Given the description of an element on the screen output the (x, y) to click on. 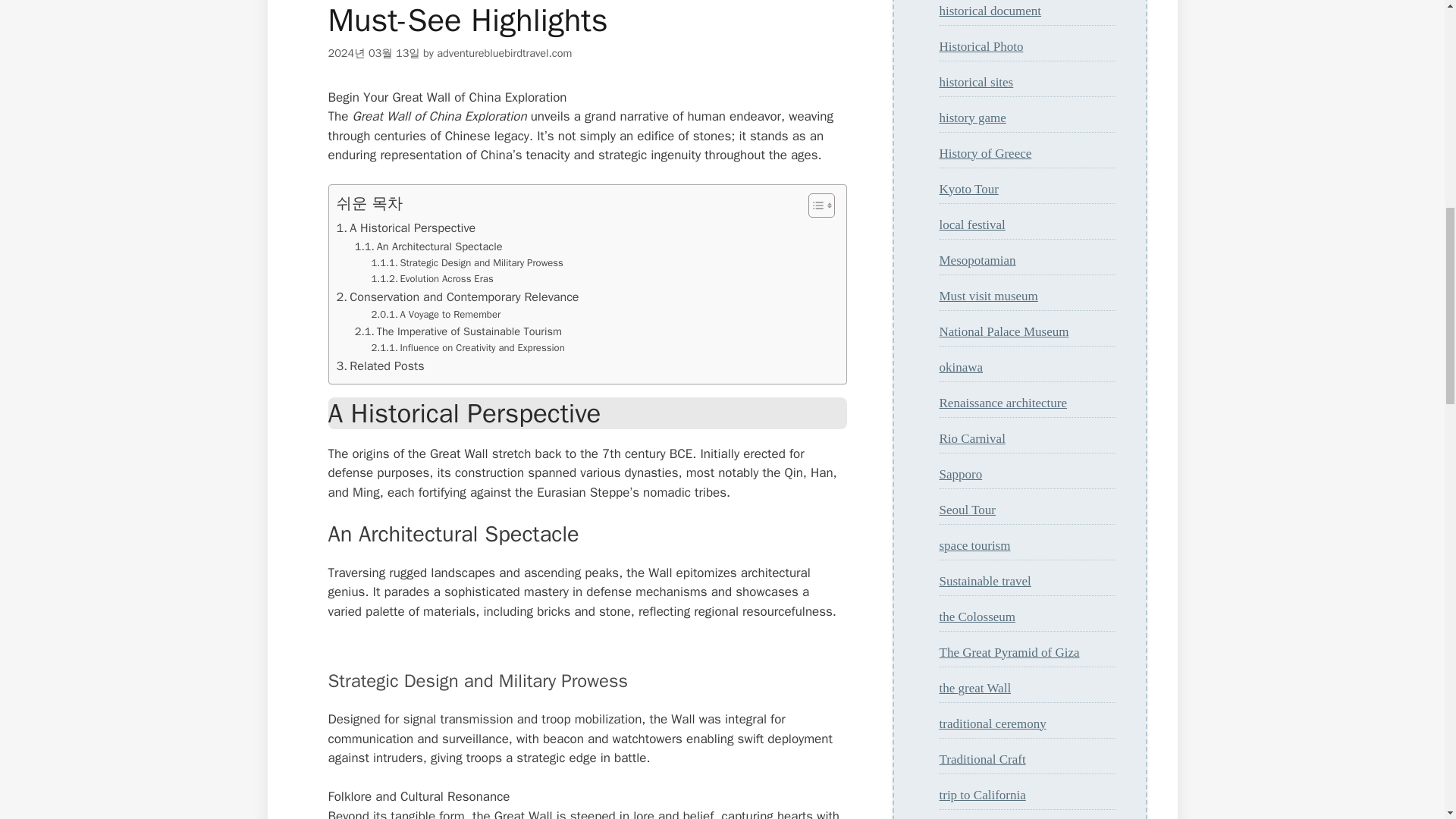
Evolution Across Eras (432, 279)
A Historical Perspective (406, 228)
Influence on Creativity and Expression (467, 348)
Related Posts (380, 365)
The Imperative of Sustainable Tourism (458, 331)
Conservation and Contemporary Relevance (457, 297)
Evolution Across Eras (432, 279)
An Architectural Spectacle (428, 246)
adventurebluebirdtravel.com (504, 52)
Conservation and Contemporary Relevance (457, 297)
The Imperative of Sustainable Tourism (458, 331)
A Voyage to Remember (435, 314)
Strategic Design and Military Prowess (467, 263)
View all posts by adventurebluebirdtravel.com (504, 52)
Strategic Design and Military Prowess (467, 263)
